Given the description of an element on the screen output the (x, y) to click on. 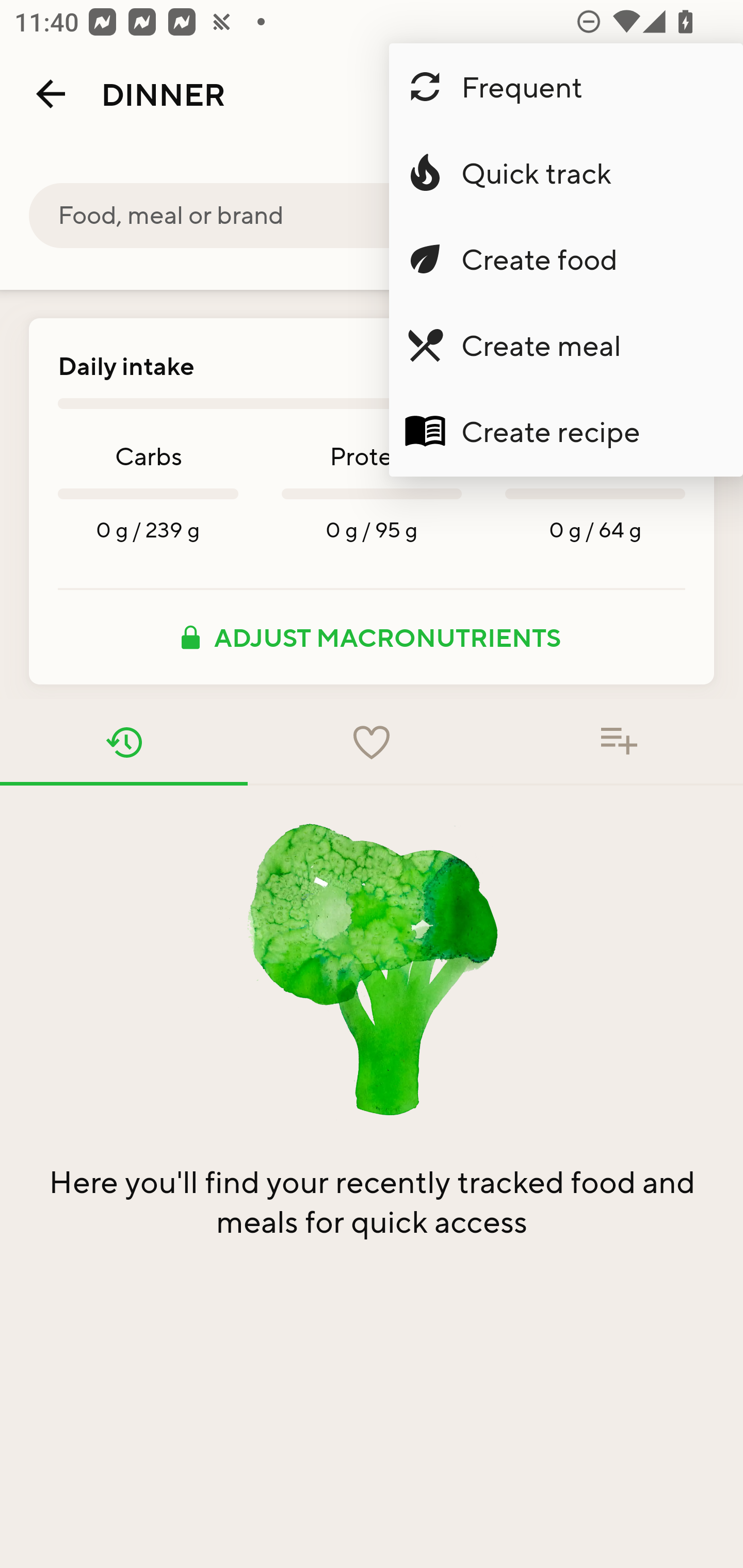
Frequent (566, 86)
Quick track (566, 173)
Create food (566, 259)
Create meal (566, 344)
Create recipe (566, 431)
